Given the description of an element on the screen output the (x, y) to click on. 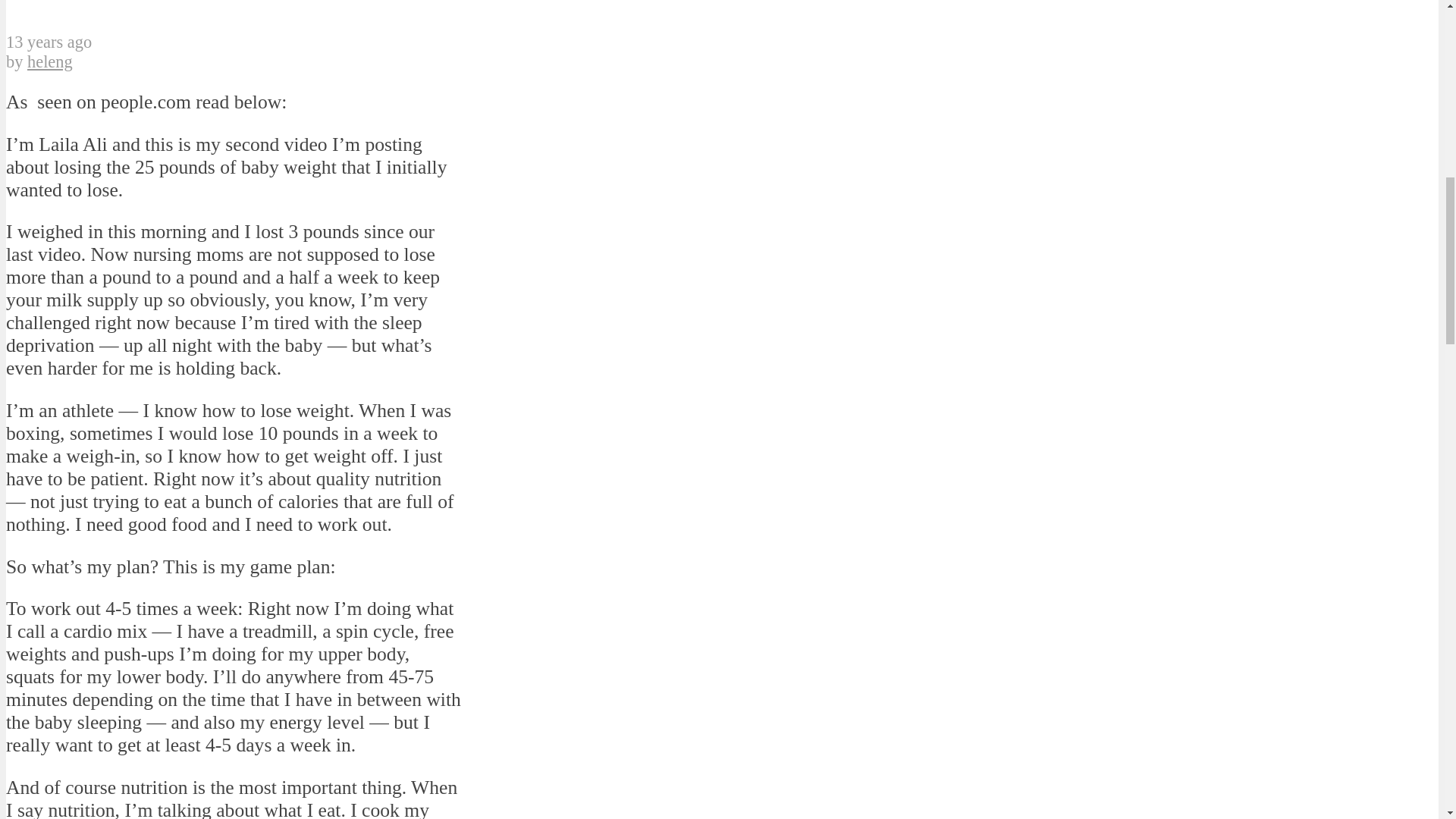
heleng (49, 61)
